Given the description of an element on the screen output the (x, y) to click on. 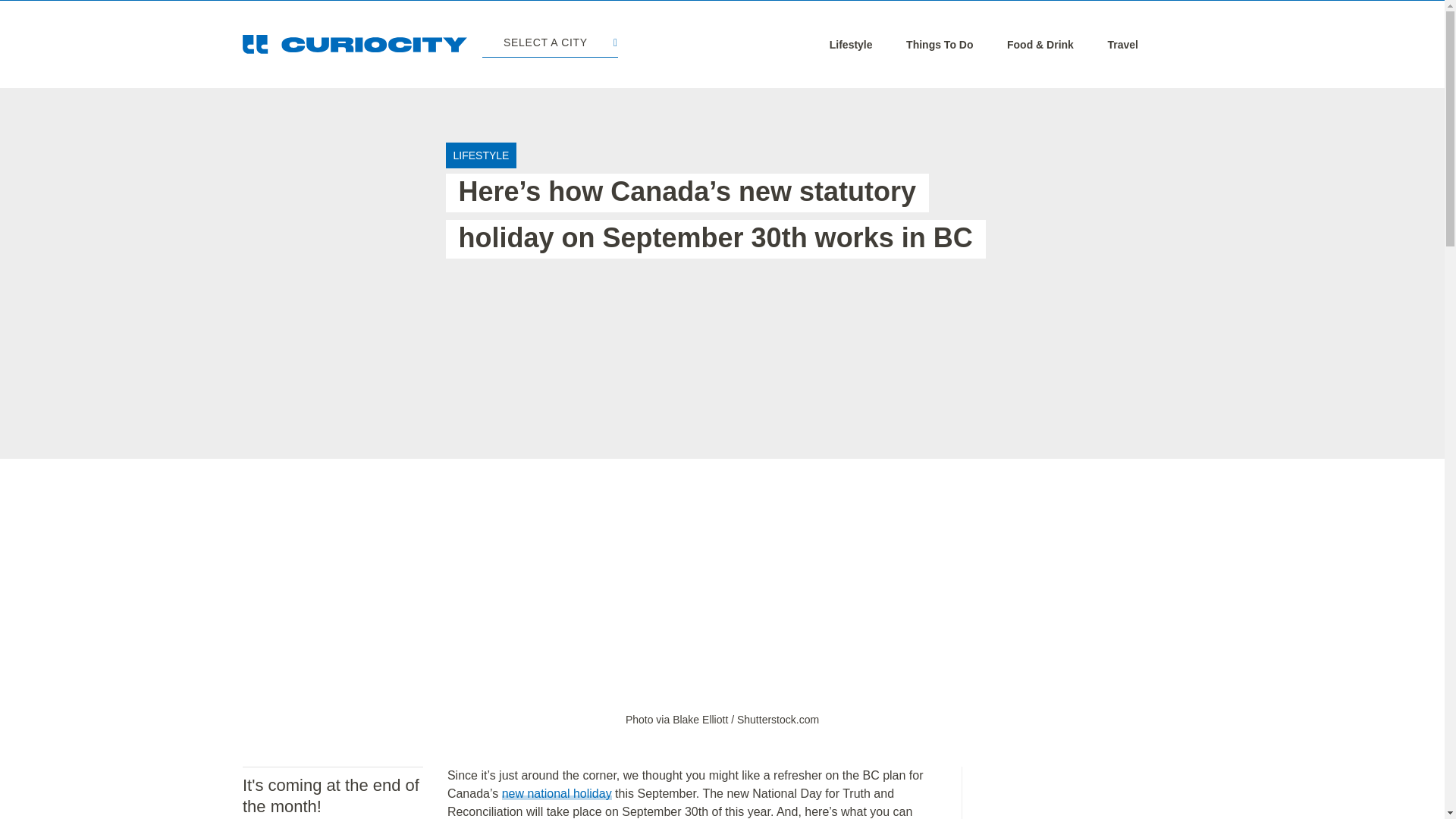
Lifestyle (850, 44)
opens in a new tab (722, 719)
goes to Home (355, 43)
curiocity-primary-logo-blue  (355, 44)
SELECT A CITY (549, 44)
Travel (1121, 44)
Things To Do (938, 44)
